Given the description of an element on the screen output the (x, y) to click on. 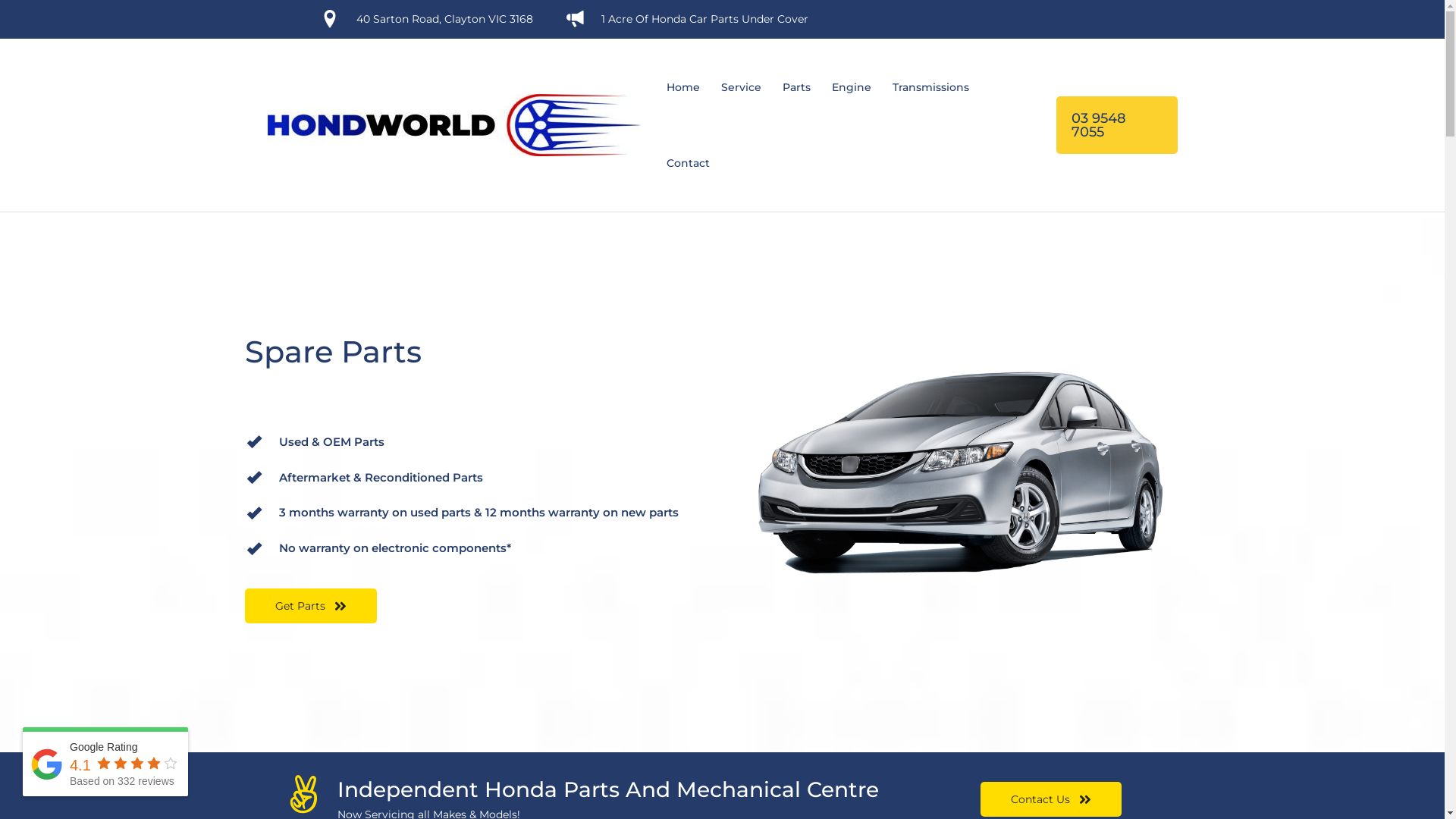
Parts Element type: text (796, 87)
Get Parts Element type: text (310, 605)
Engine Element type: text (850, 87)
Home Element type: text (682, 87)
03 9548 7055 Element type: text (1116, 124)
Transmissions Element type: text (930, 87)
car-10 Element type: hover (966, 473)
Contact Us Element type: text (1050, 798)
Contact Element type: text (687, 162)
Service Element type: text (740, 87)
